Given the description of an element on the screen output the (x, y) to click on. 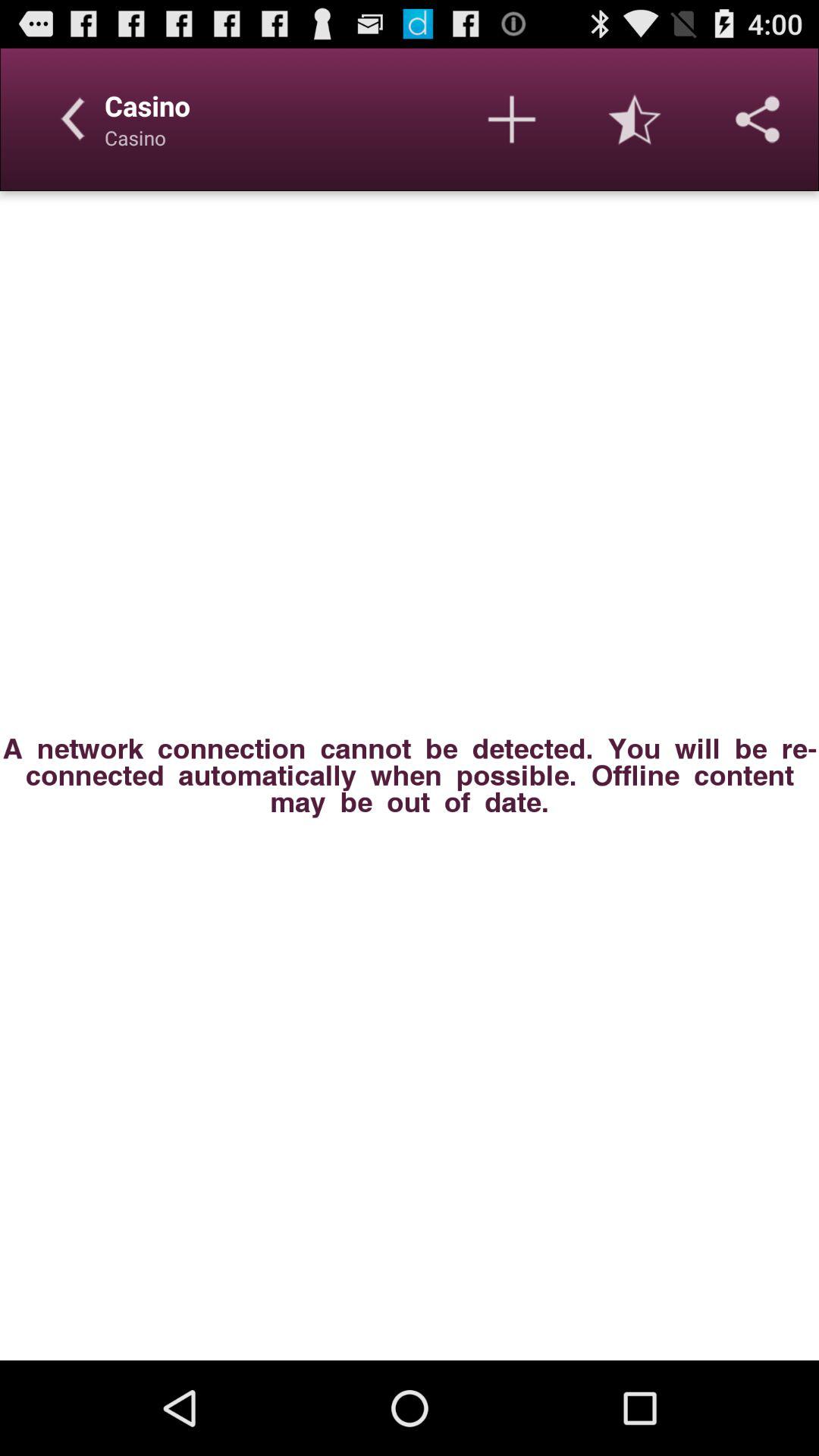
select app to the right of casino item (511, 119)
